Given the description of an element on the screen output the (x, y) to click on. 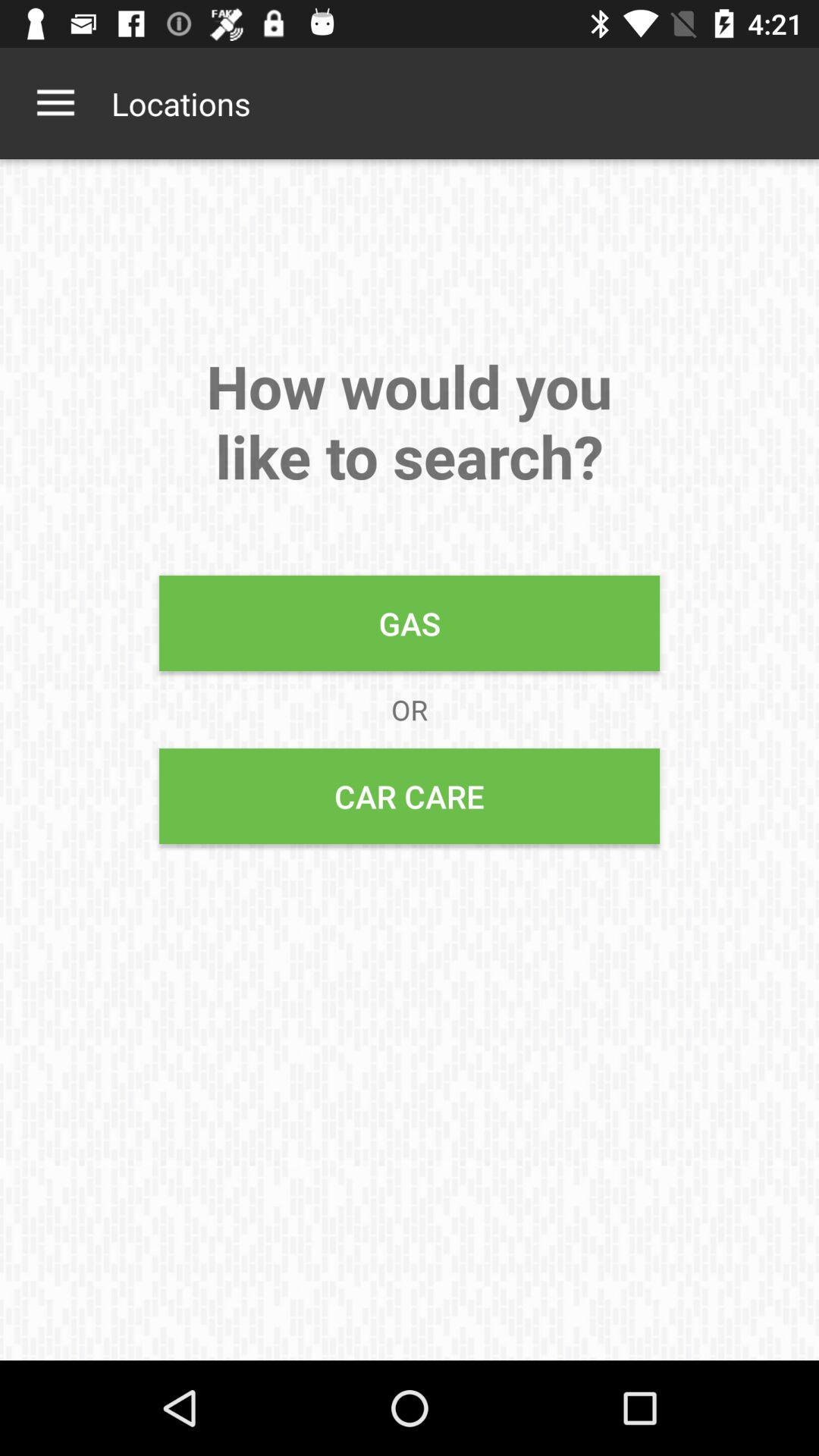
select the item above or item (409, 623)
